Given the description of an element on the screen output the (x, y) to click on. 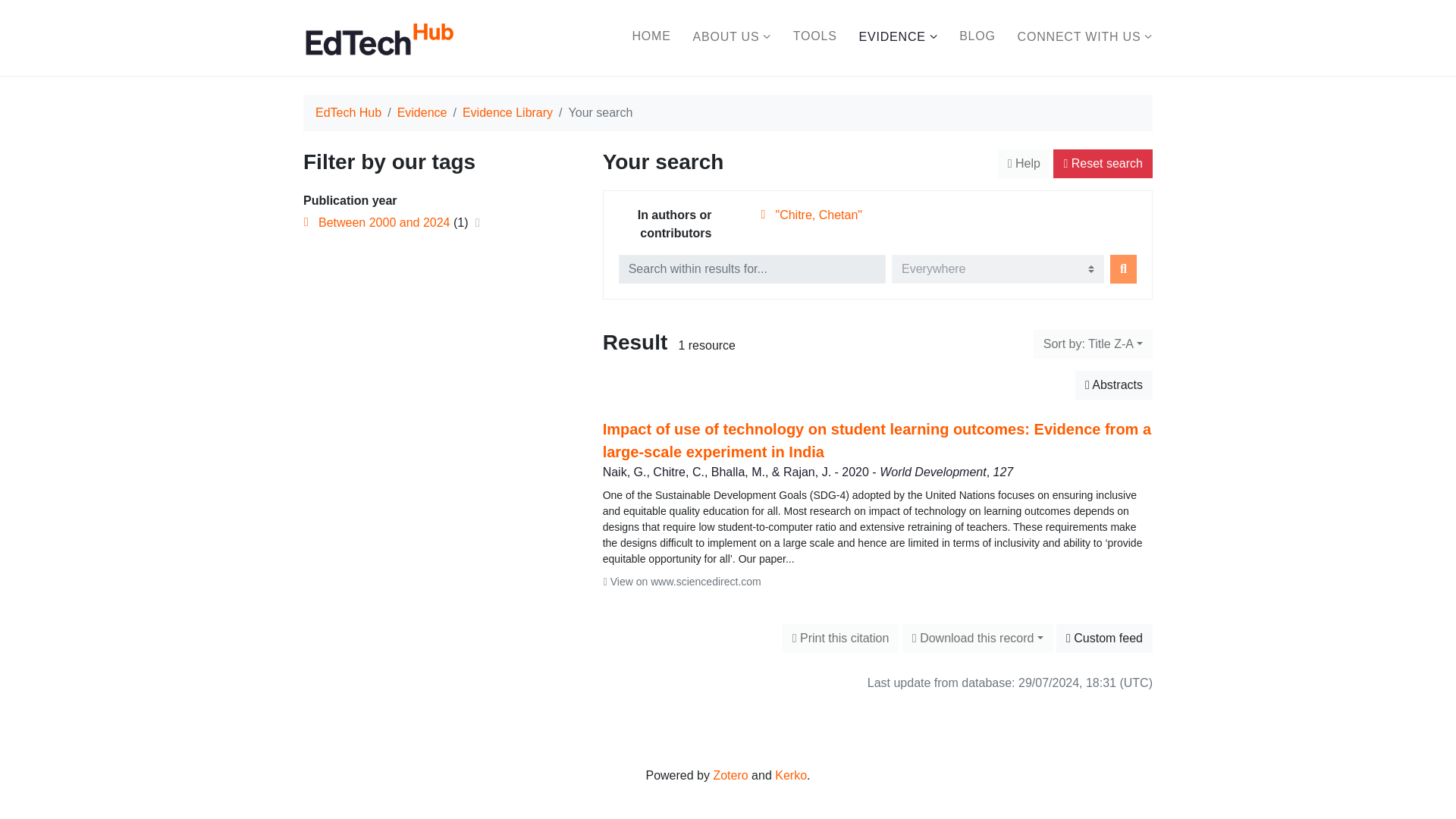
View details (877, 449)
Evidence Library (508, 112)
The EdTech Hub (378, 37)
Evidence (421, 112)
Add the 'Between 2000 and 2024' filter (383, 222)
CONNECT WITH US (1085, 37)
Hide abstracts (1114, 385)
Custom feed based on your search (1105, 638)
EdTech Hub (348, 112)
Sort by: Title Z-A (1093, 344)
HOME (651, 37)
Help (1023, 163)
Explore (1123, 268)
ABOUT US (732, 37)
EVIDENCE (898, 37)
